Given the description of an element on the screen output the (x, y) to click on. 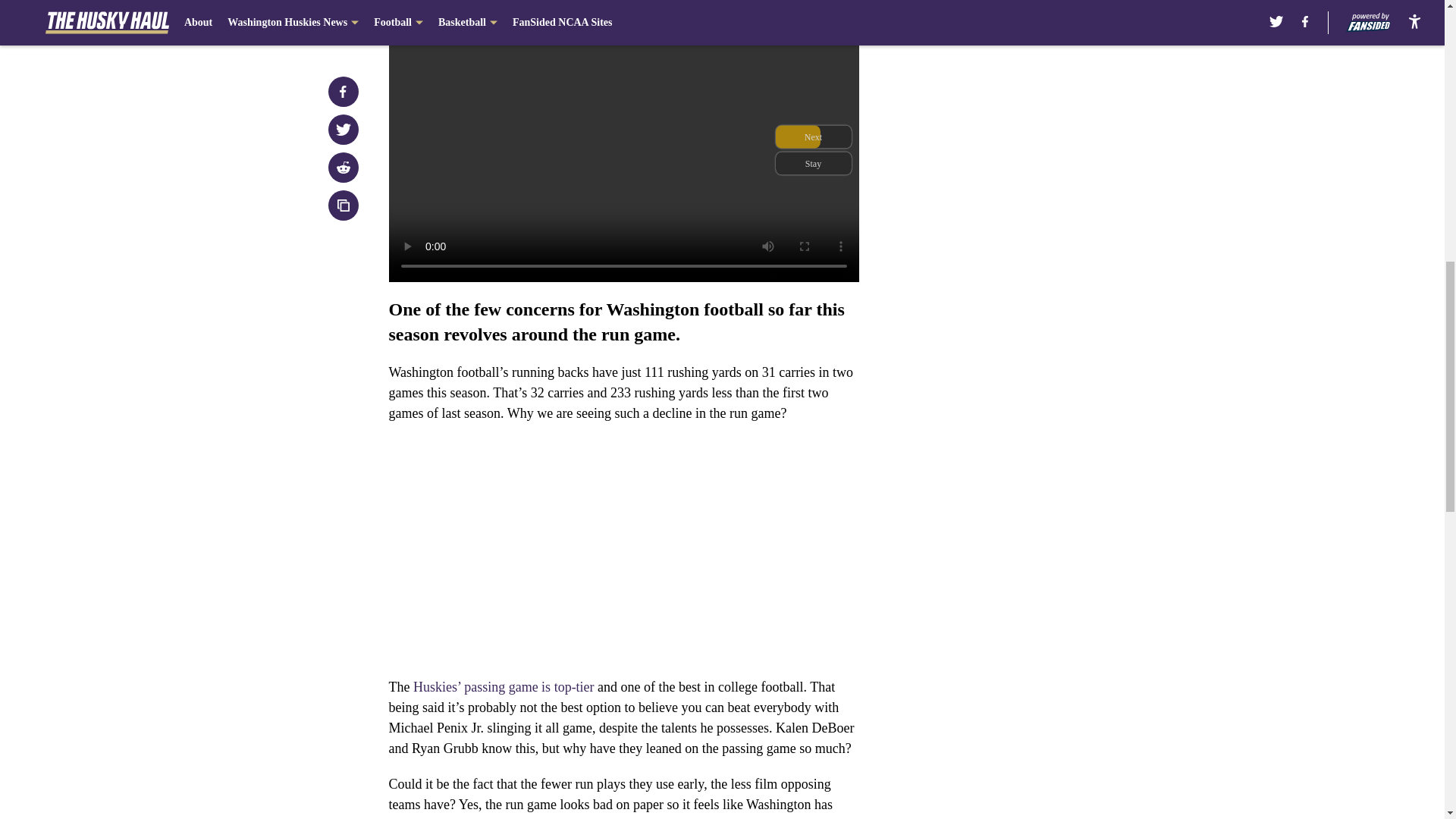
3rd party ad content (1047, 332)
3rd party ad content (1047, 113)
